Given the description of an element on the screen output the (x, y) to click on. 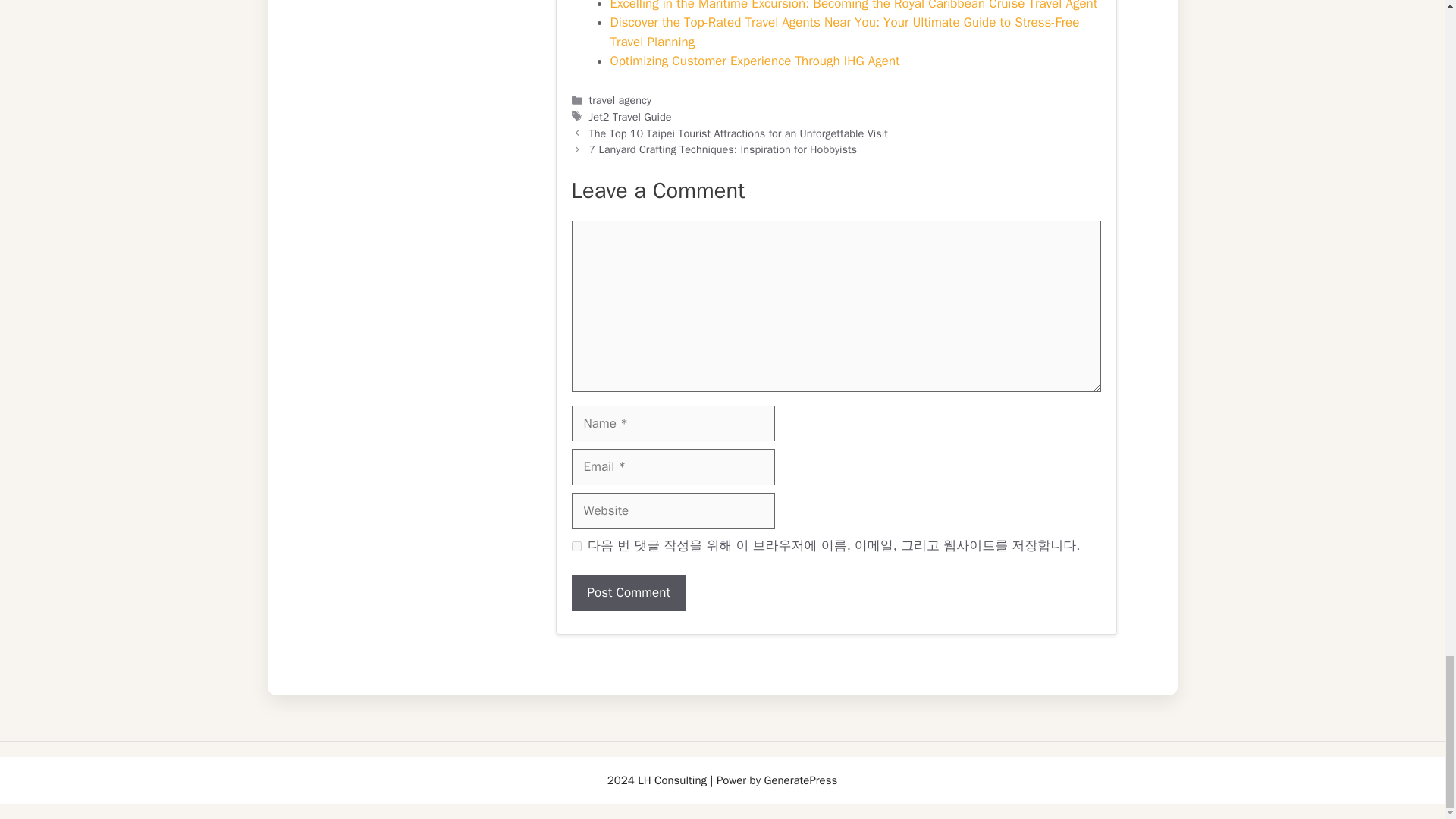
Optimizing Customer Experience Through IHG Agent (754, 60)
travel agency (619, 100)
yes (576, 546)
Post Comment (628, 592)
